Given the description of an element on the screen output the (x, y) to click on. 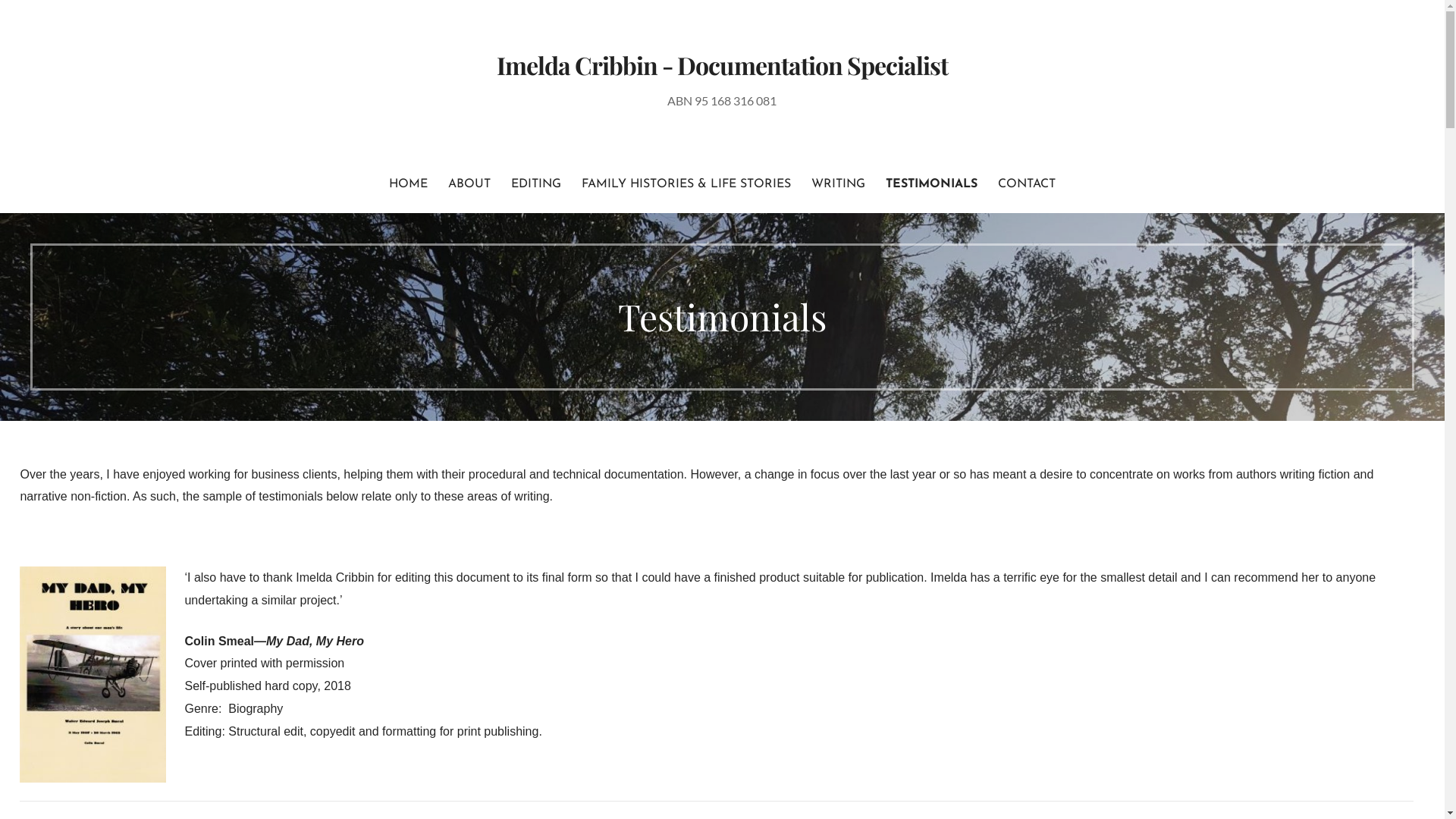
TESTIMONIALS Element type: text (931, 184)
ABOUT Element type: text (469, 184)
CONTACT Element type: text (1026, 184)
FAMILY HISTORIES & LIFE STORIES Element type: text (686, 184)
EDITING Element type: text (536, 184)
HOME Element type: text (407, 184)
Imelda Cribbin - Documentation Specialist Element type: text (722, 64)
WRITING Element type: text (838, 184)
